Given the description of an element on the screen output the (x, y) to click on. 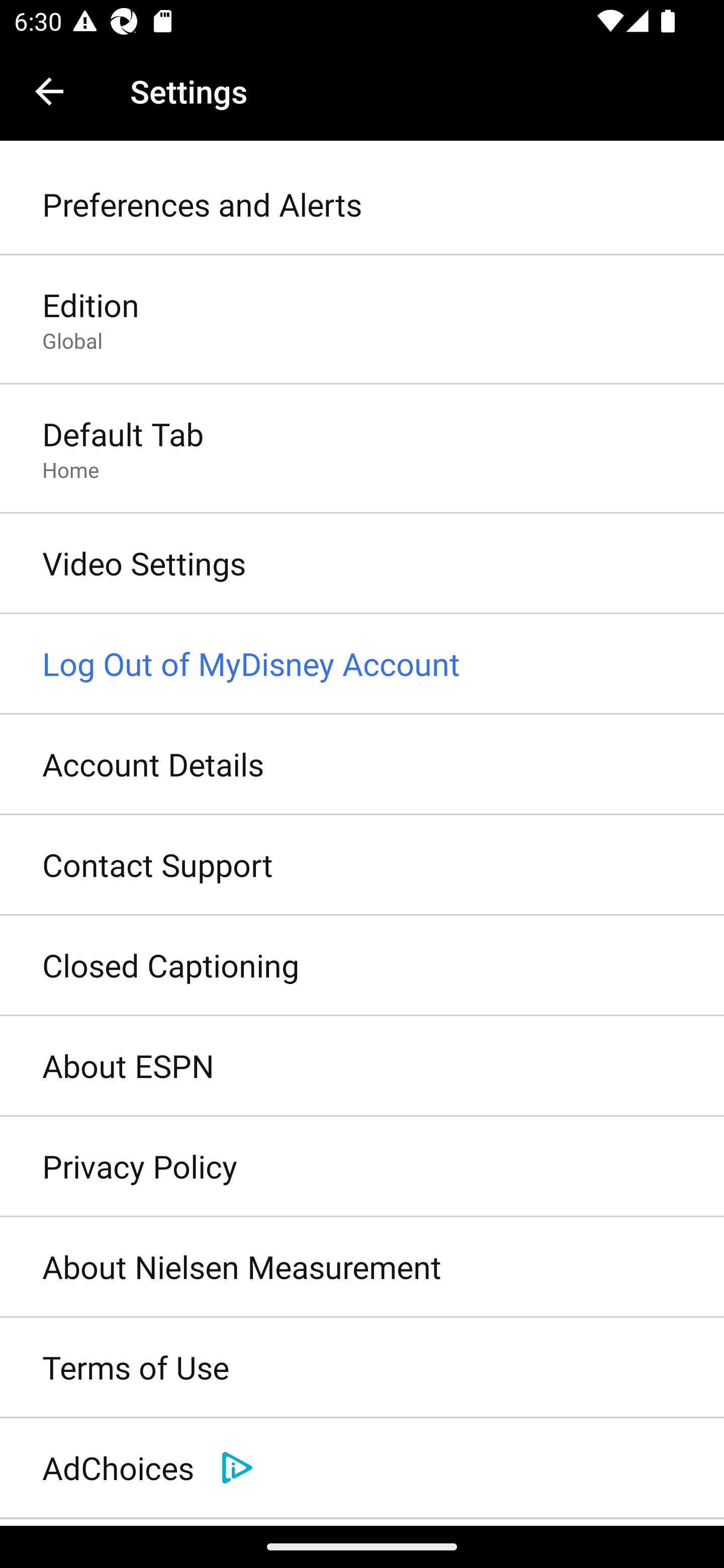
Navigate up (49, 91)
Preferences and Alerts (362, 205)
Edition Global (362, 320)
Default Tab Home (362, 449)
Video Settings (362, 564)
Log Out of MyDisney Account (362, 664)
Account Details (362, 765)
Contact Support (362, 865)
Closed Captioning (362, 965)
About ESPN (362, 1066)
Privacy Policy (362, 1167)
About Nielsen Measurement (362, 1267)
Terms of Use (362, 1368)
AdChoices (362, 1468)
